Given the description of an element on the screen output the (x, y) to click on. 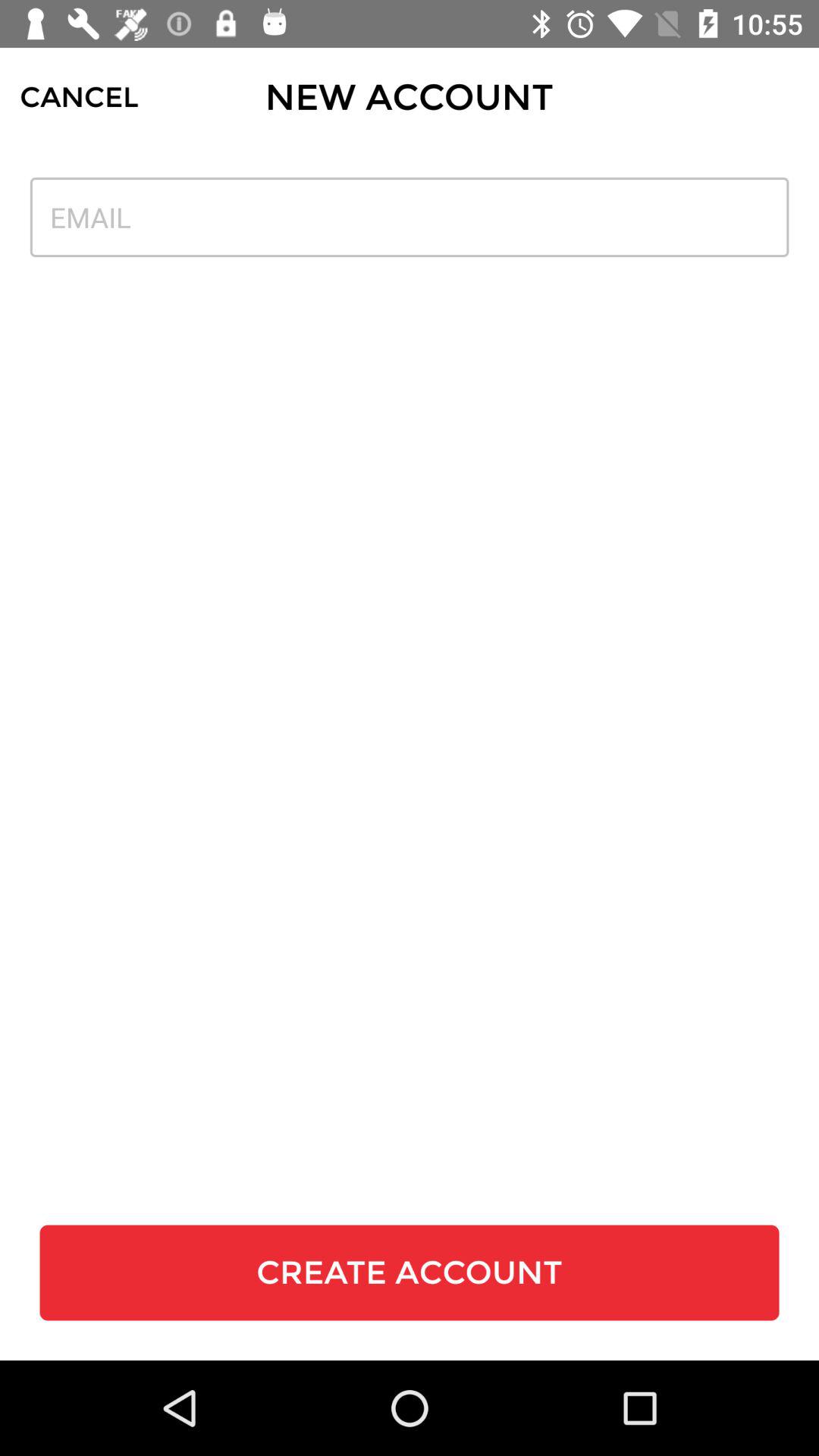
jump until create account (409, 1272)
